Given the description of an element on the screen output the (x, y) to click on. 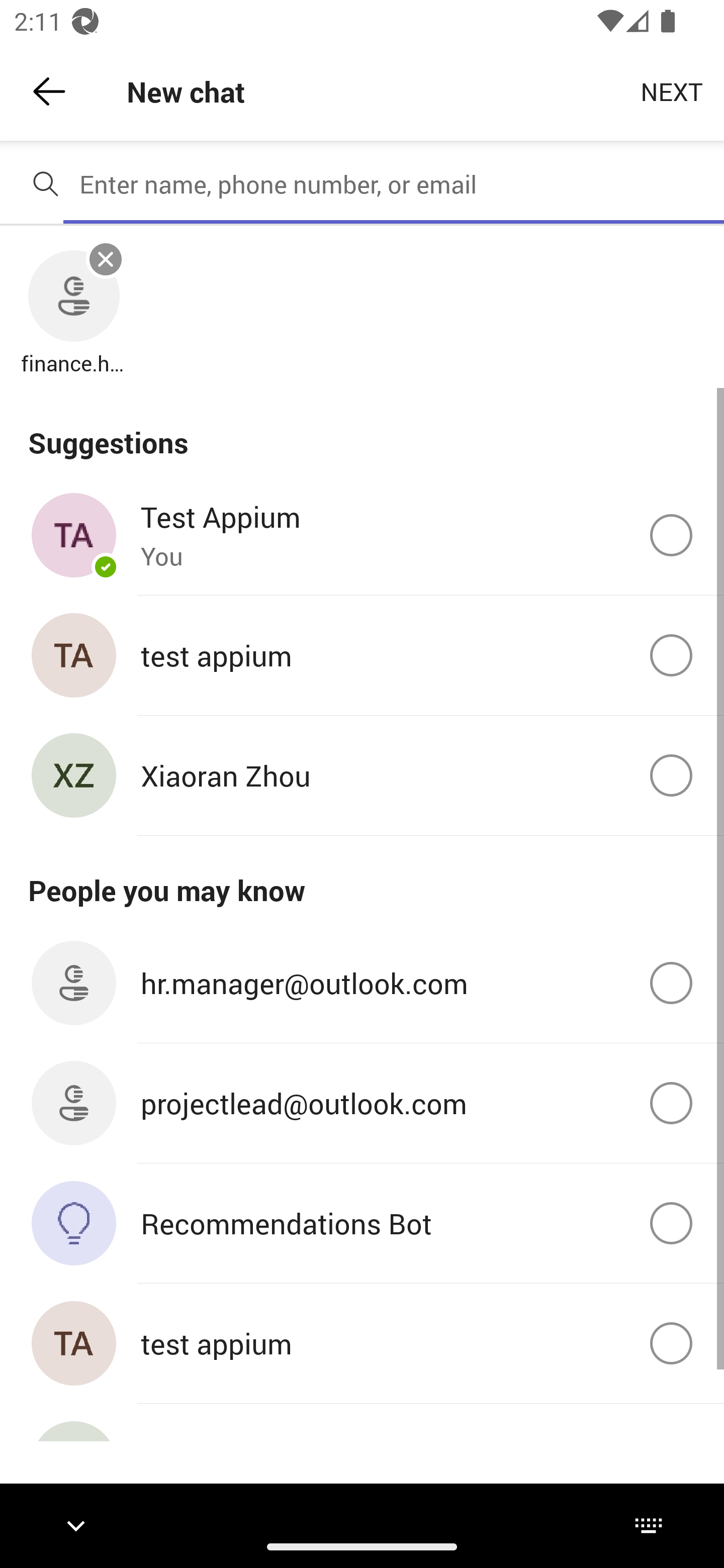
Back (49, 91)
NEXT (671, 90)
Enter name, phone number, or email (393, 184)
Remove (105, 259)
finance.head@outlook.com profile picture (73, 295)
Suggestions section header Suggestions (362, 431)
